Given the description of an element on the screen output the (x, y) to click on. 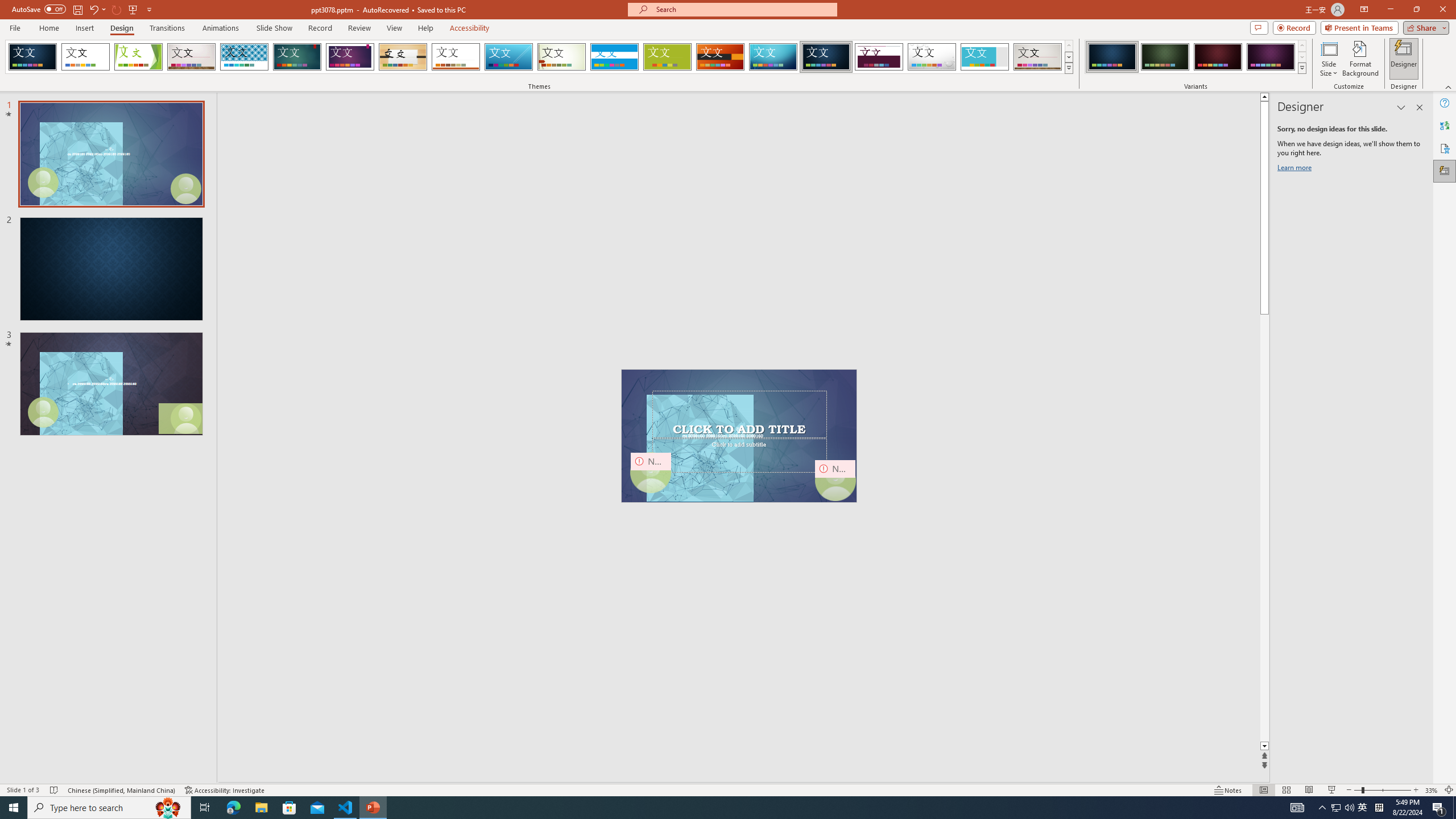
Organic (403, 56)
Format Background (1360, 58)
Wisp (561, 56)
Slide Size (1328, 58)
Learn more (1295, 169)
AutomationID: SlideThemesGallery (539, 56)
Title TextBox (739, 414)
